Given the description of an element on the screen output the (x, y) to click on. 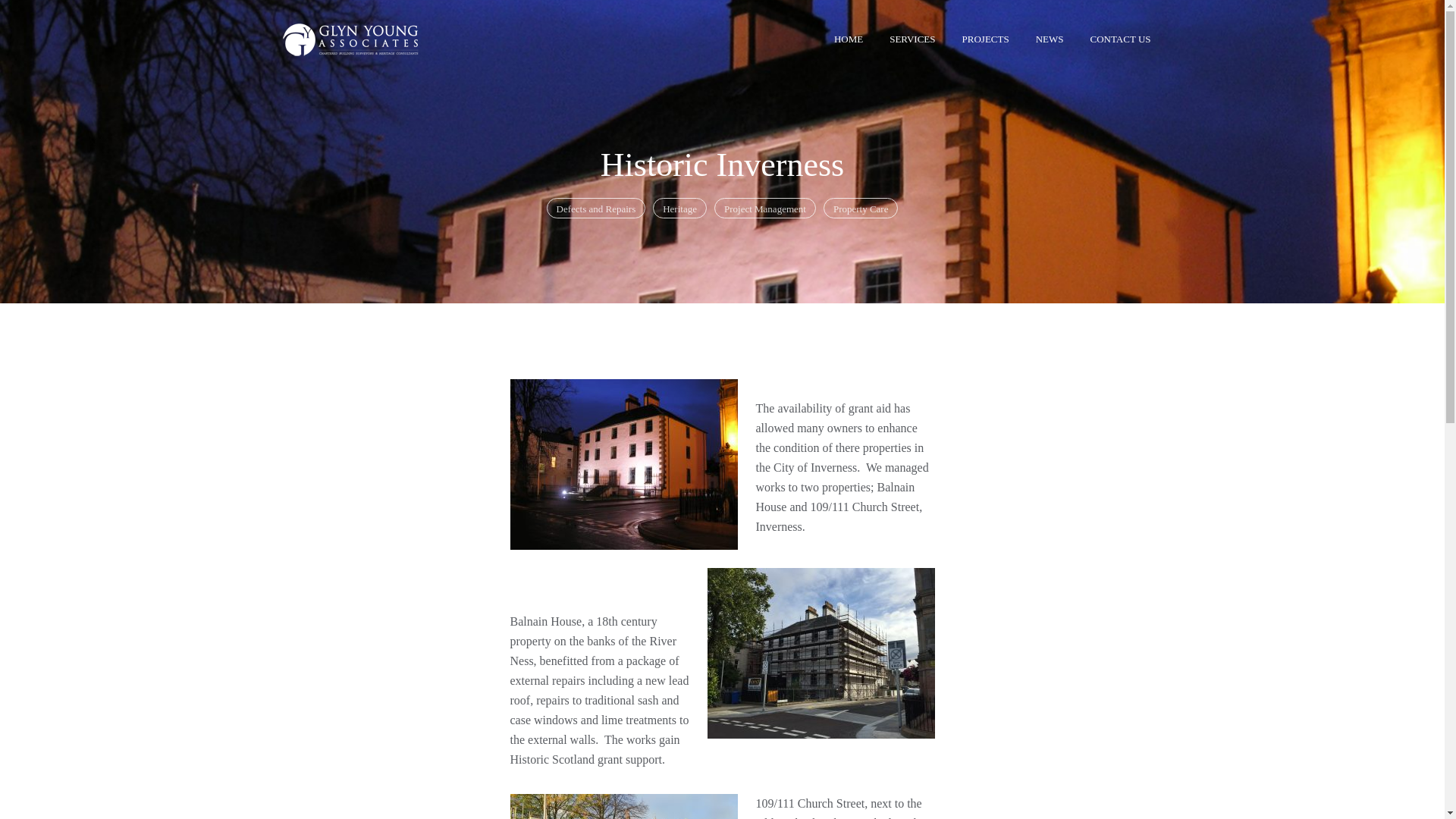
NEWS (1050, 38)
Heritage (679, 208)
Project Management (764, 208)
PROJECTS (985, 38)
Property Care (861, 208)
CONTACT US (1119, 38)
HOME (848, 38)
Defects and Repairs (596, 208)
SERVICES (911, 38)
